Given the description of an element on the screen output the (x, y) to click on. 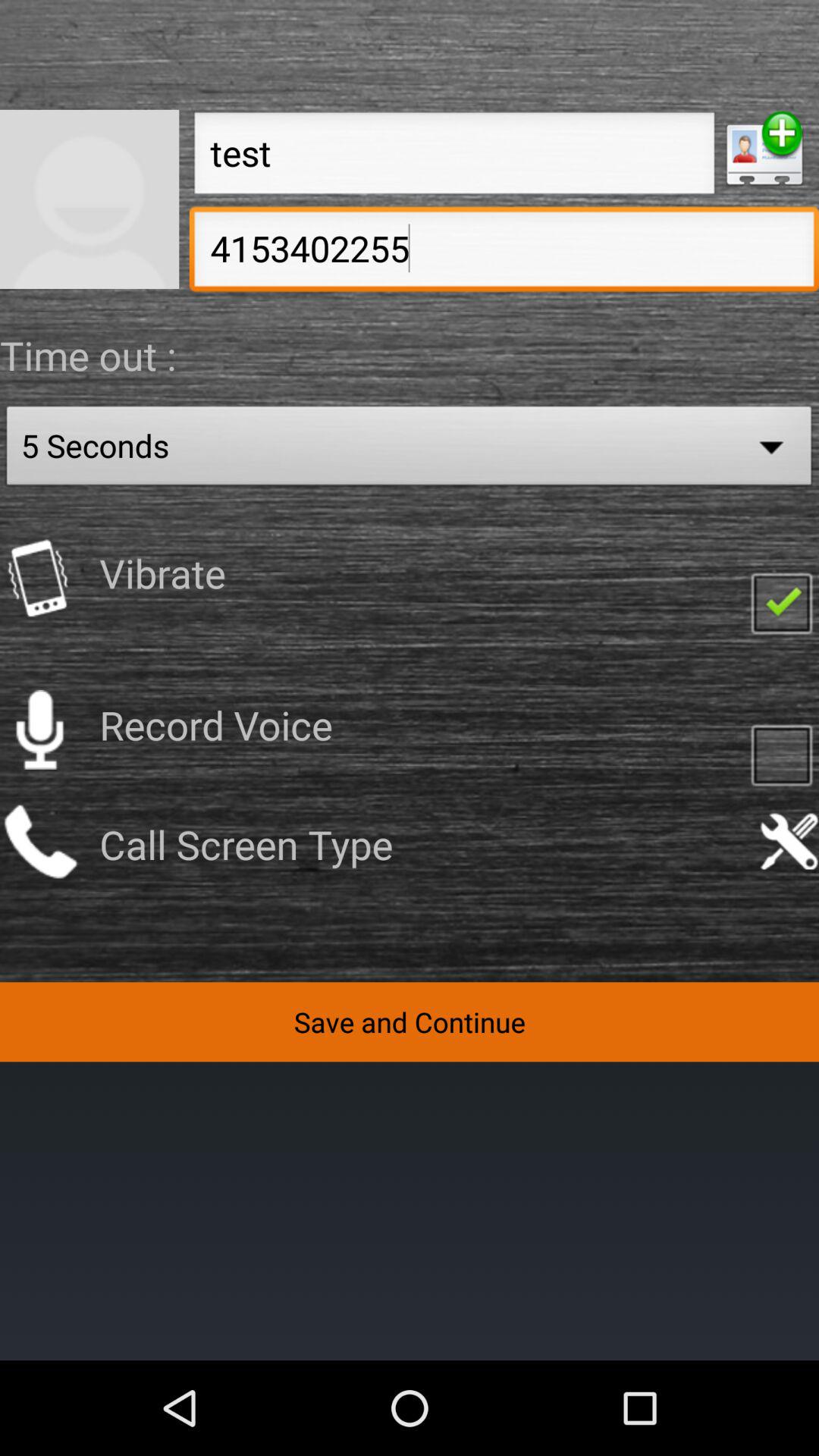
record voice (39, 729)
